Given the description of an element on the screen output the (x, y) to click on. 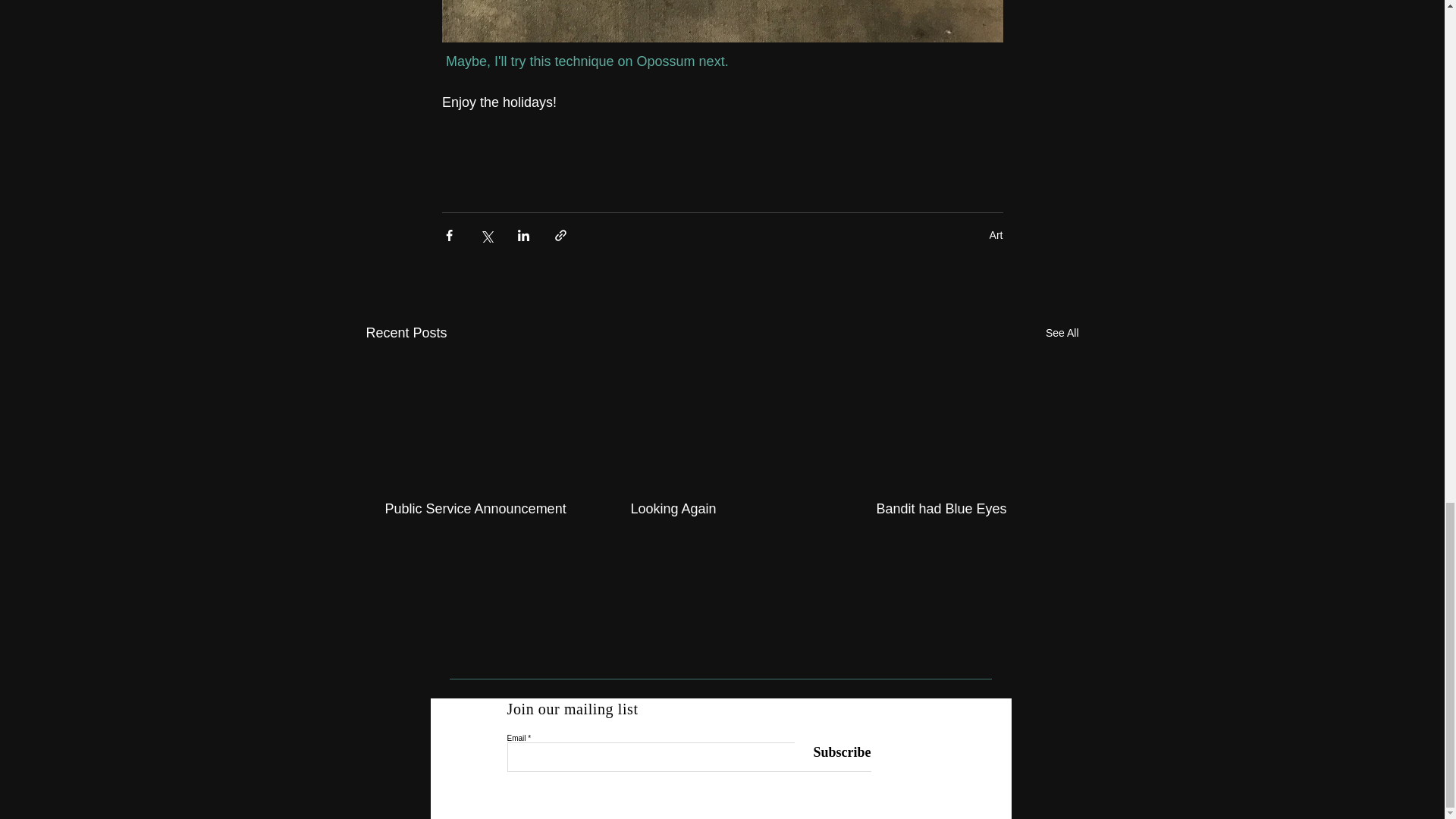
Looking Again (721, 508)
Public Service Announcement (476, 508)
Art (996, 234)
Subscribe (832, 753)
See All (1061, 332)
Bandit had Blue Eyes (967, 508)
 Maybe, I'll try this technique on Opossum next.   (588, 61)
